Given the description of an element on the screen output the (x, y) to click on. 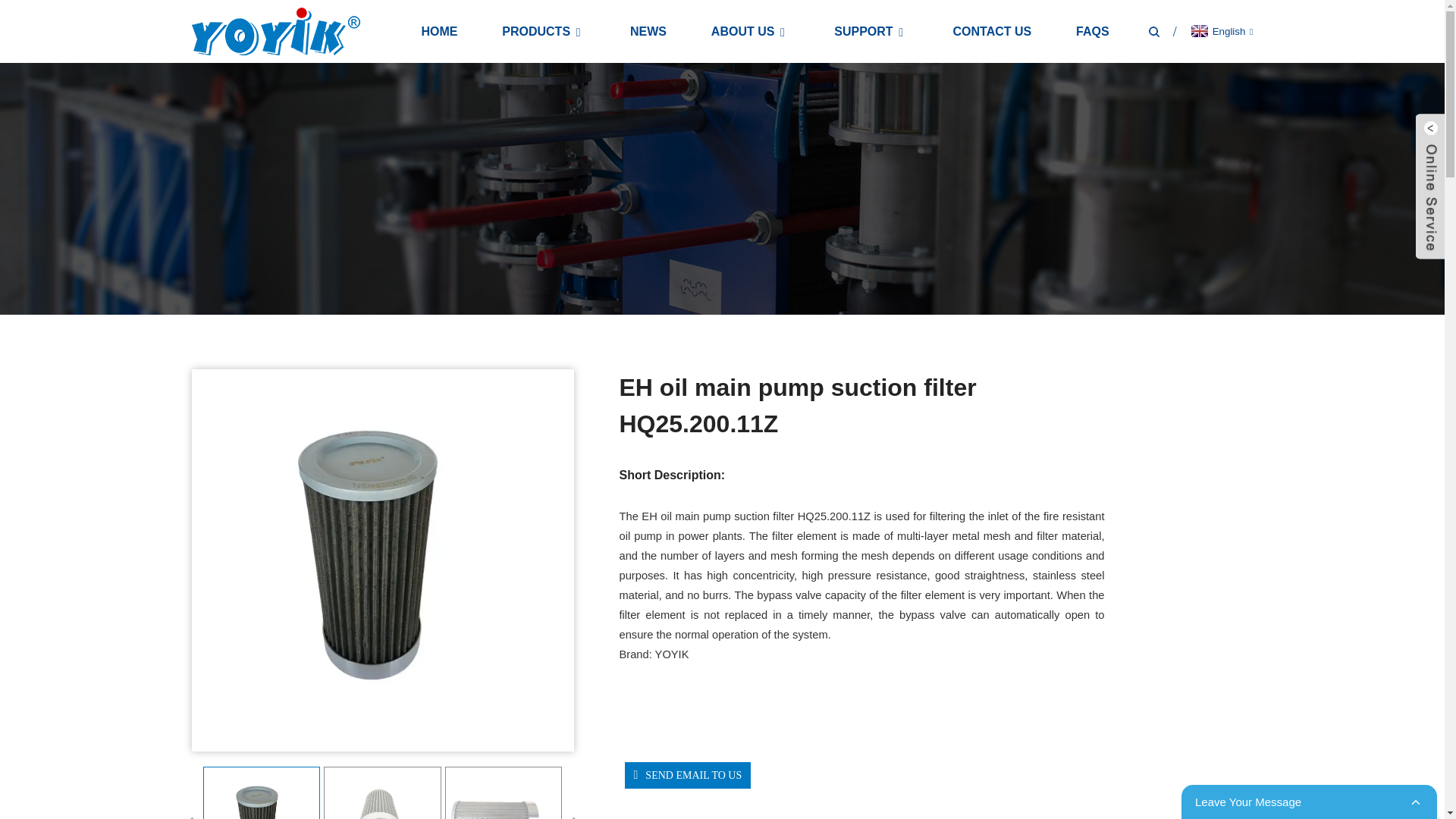
PRODUCTS (543, 31)
HOME (438, 31)
